Given the description of an element on the screen output the (x, y) to click on. 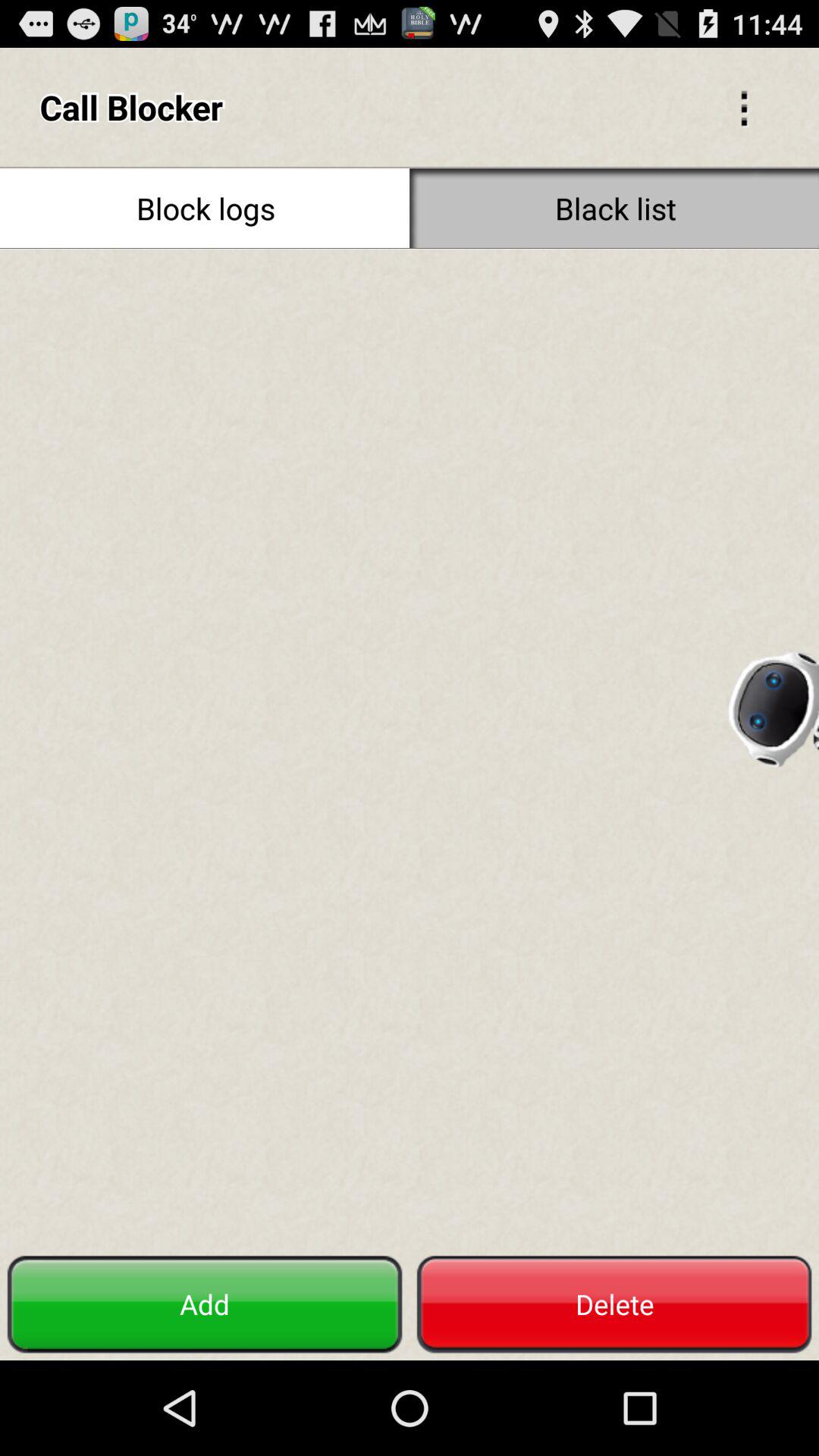
show options (744, 107)
